Given the description of an element on the screen output the (x, y) to click on. 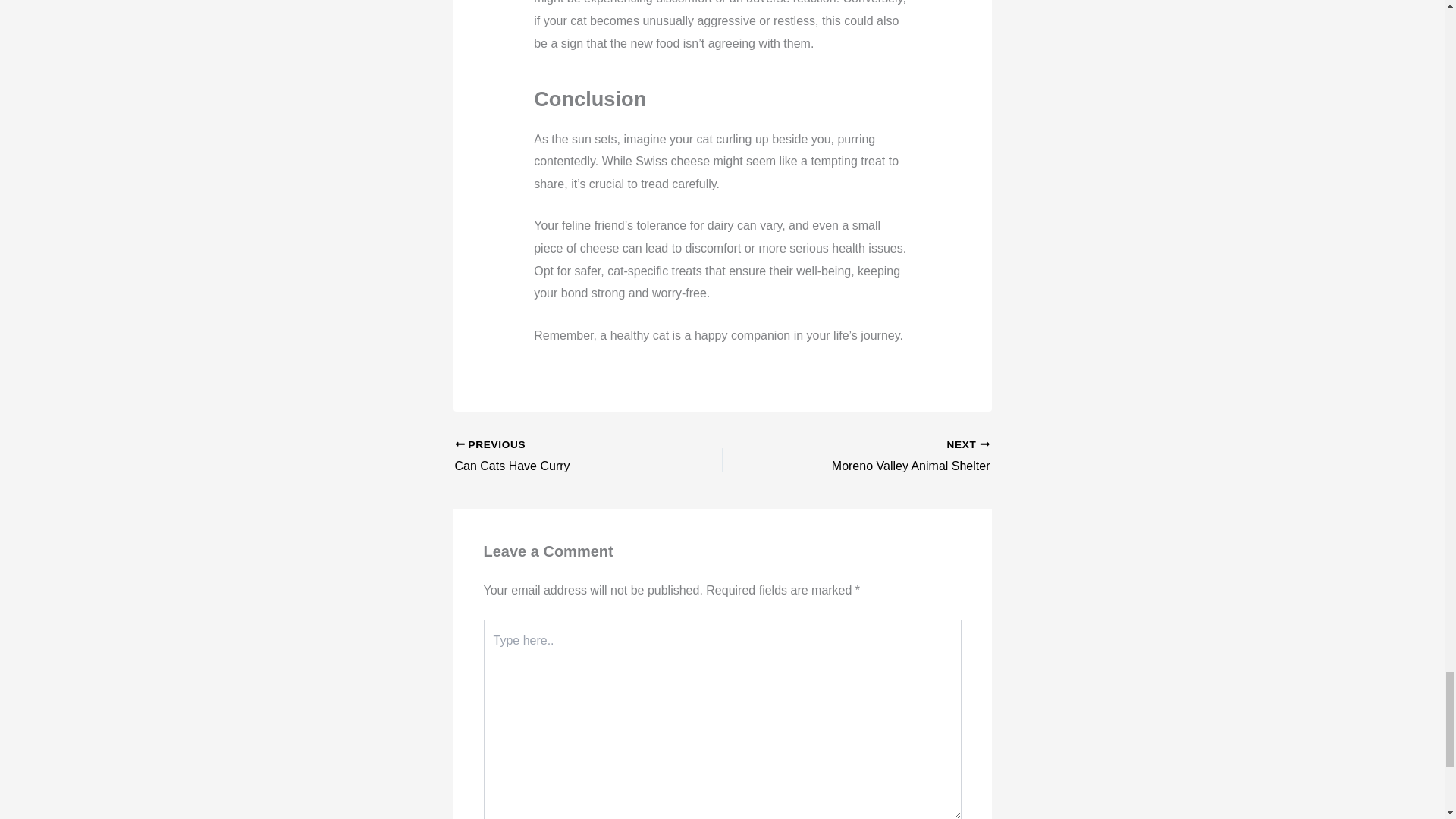
Can Cats Have Curry (561, 456)
Moreno Valley Animal Shelter (561, 456)
